Given the description of an element on the screen output the (x, y) to click on. 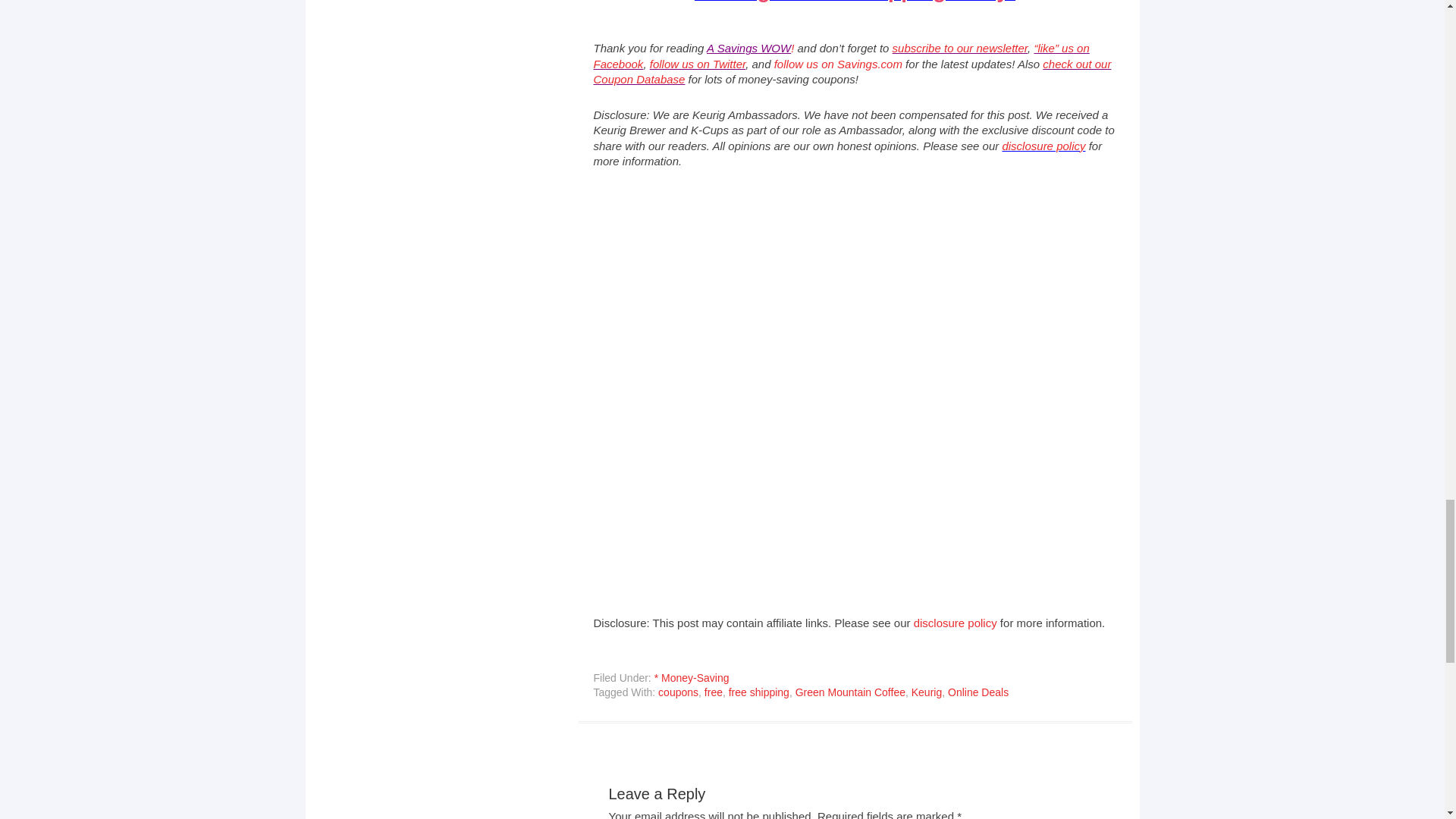
A Savings WOW! Newsletter Subscription (959, 47)
A Savings WOW! (749, 47)
A Savings WOW! Facebook Page (840, 55)
